Given the description of an element on the screen output the (x, y) to click on. 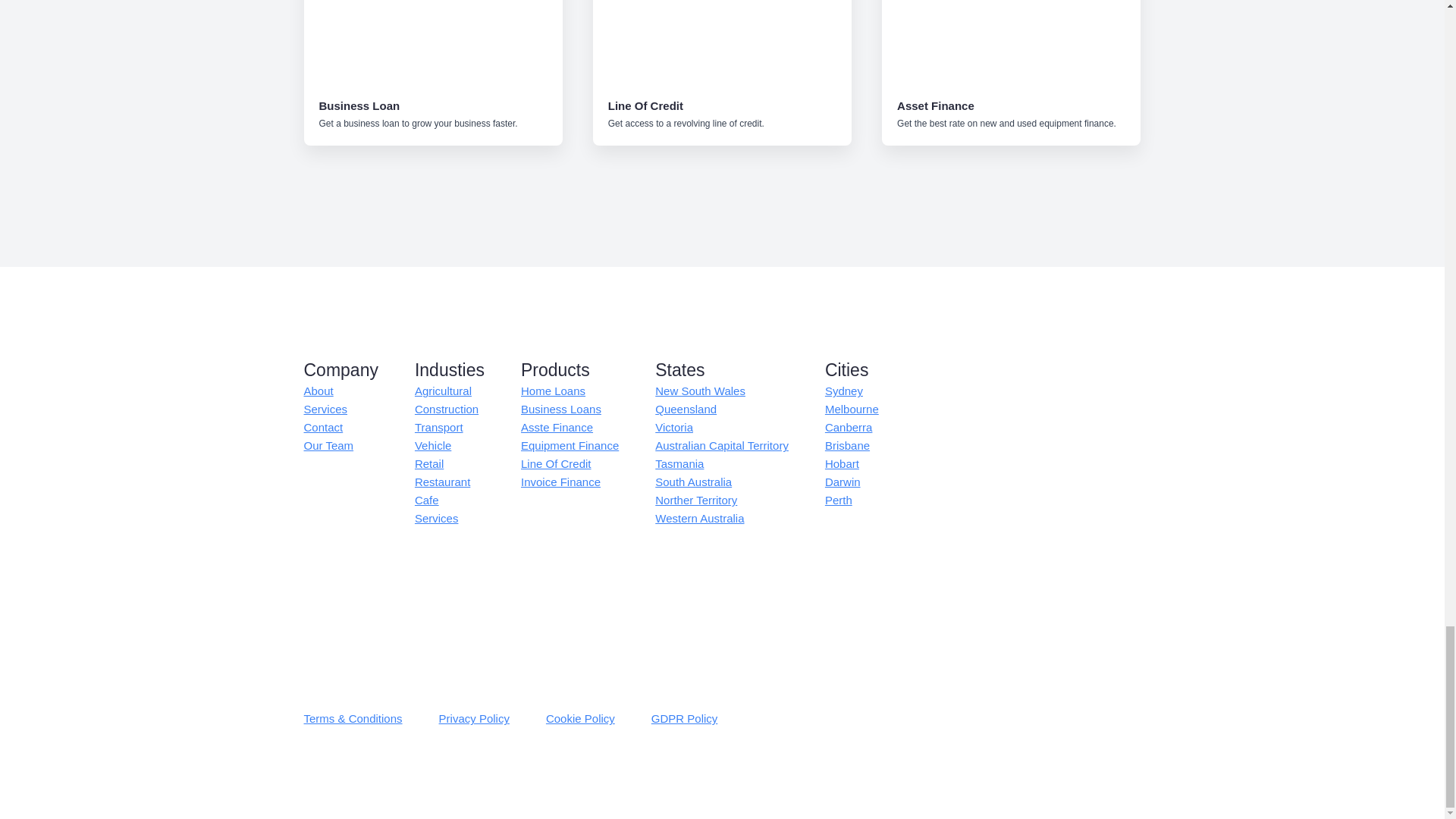
Construction (446, 409)
Services (324, 409)
Business Loans (561, 409)
Home Loans (553, 391)
Asste Finance (556, 427)
Agricultural (442, 391)
Our Team (327, 445)
Transport (438, 427)
Retail (429, 464)
